Given the description of an element on the screen output the (x, y) to click on. 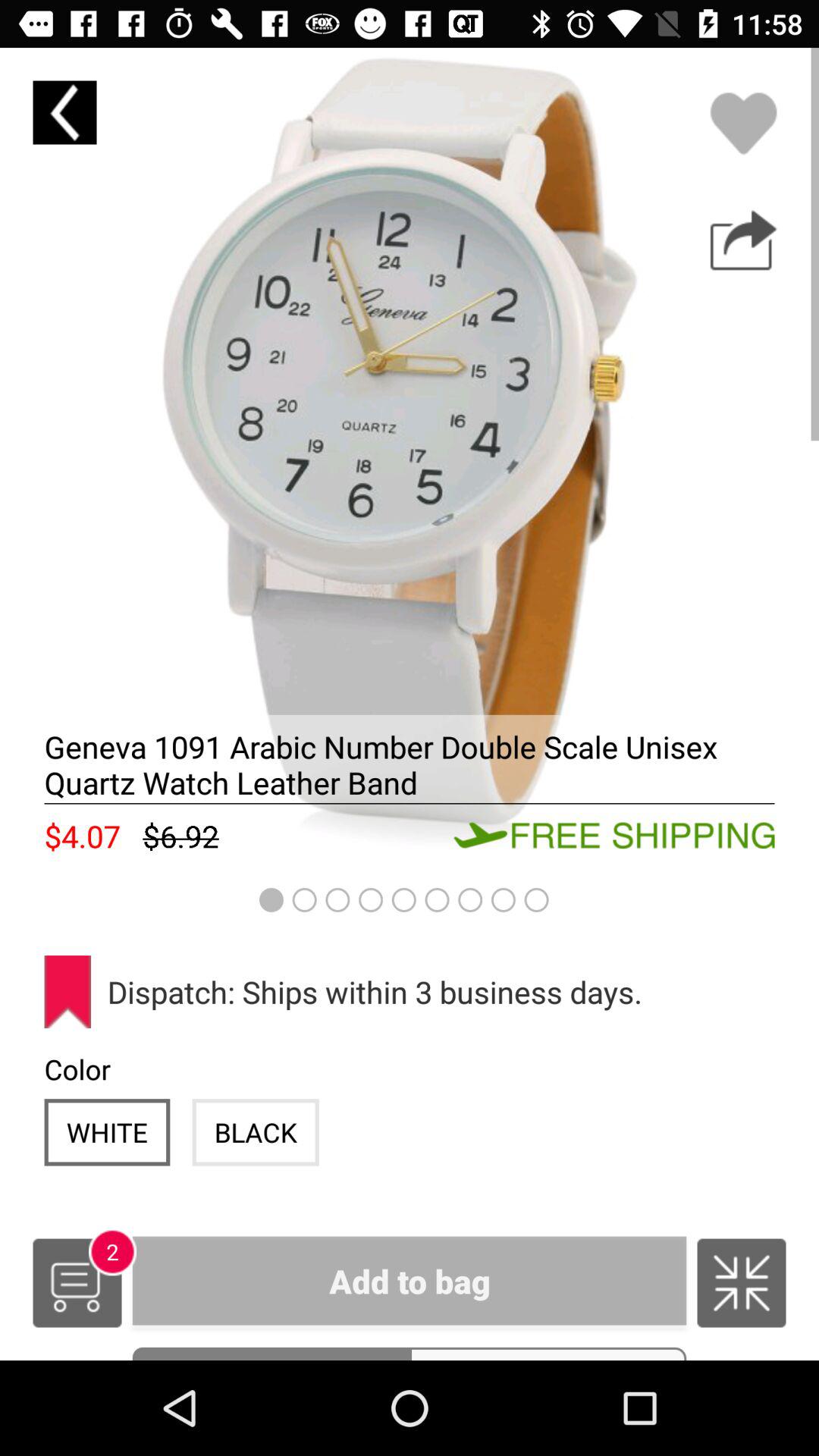
swipe until the sizes (547, 1353)
